Given the description of an element on the screen output the (x, y) to click on. 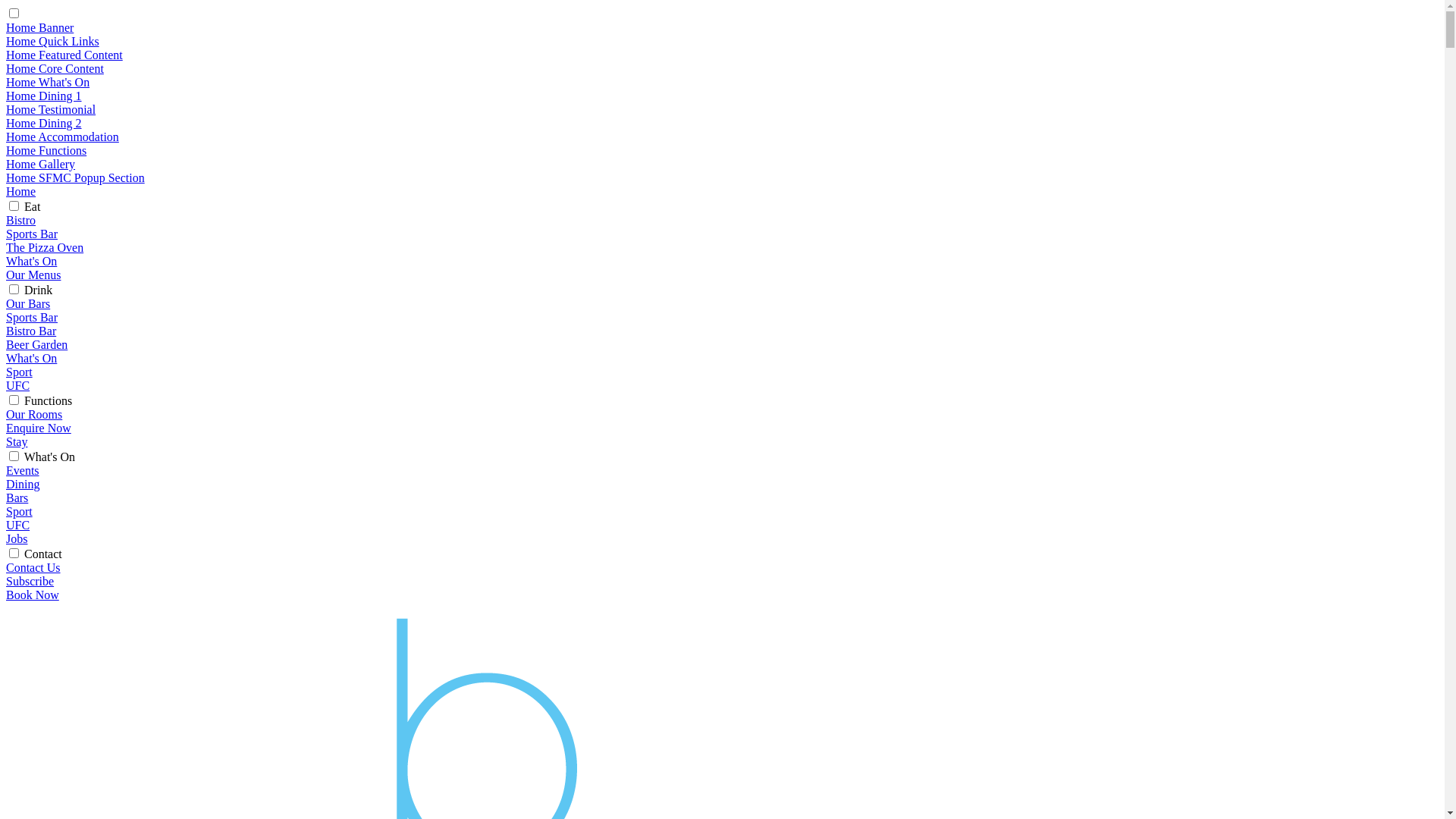
Stay Element type: text (16, 441)
Sport Element type: text (19, 371)
Functions Element type: text (48, 400)
Home Quick Links Element type: text (52, 40)
Home Gallery Element type: text (40, 163)
Home Core Content Element type: text (54, 68)
What's On Element type: text (31, 260)
Home Testimonial Element type: text (50, 109)
Home Featured Content Element type: text (64, 54)
Home SFMC Popup Section Element type: text (75, 177)
Drink Element type: text (38, 289)
Our Menus Element type: text (33, 274)
Dining Element type: text (22, 483)
Bars Element type: text (17, 497)
Home What's On Element type: text (47, 81)
Sports Bar Element type: text (31, 233)
Home Element type: text (20, 191)
Home Dining 2 Element type: text (43, 122)
Home Accommodation Element type: text (62, 136)
Contact Us Element type: text (33, 567)
Enquire Now Element type: text (38, 427)
Book Now Element type: text (32, 594)
What's On Element type: text (49, 456)
Eat Element type: text (32, 206)
Events Element type: text (22, 470)
Home Dining 1 Element type: text (43, 95)
The Pizza Oven Element type: text (44, 247)
Bistro Bar Element type: text (31, 330)
What's On Element type: text (31, 357)
Home Banner Element type: text (39, 27)
Bistro Element type: text (20, 219)
UFC Element type: text (17, 524)
Home Functions Element type: text (46, 150)
Subscribe Element type: text (29, 580)
Our Bars Element type: text (28, 303)
Jobs Element type: text (16, 538)
Contact Element type: text (43, 553)
Sport Element type: text (19, 511)
Beer Garden Element type: text (36, 344)
Our Rooms Element type: text (34, 413)
UFC Element type: text (17, 385)
Sports Bar Element type: text (31, 316)
